Given the description of an element on the screen output the (x, y) to click on. 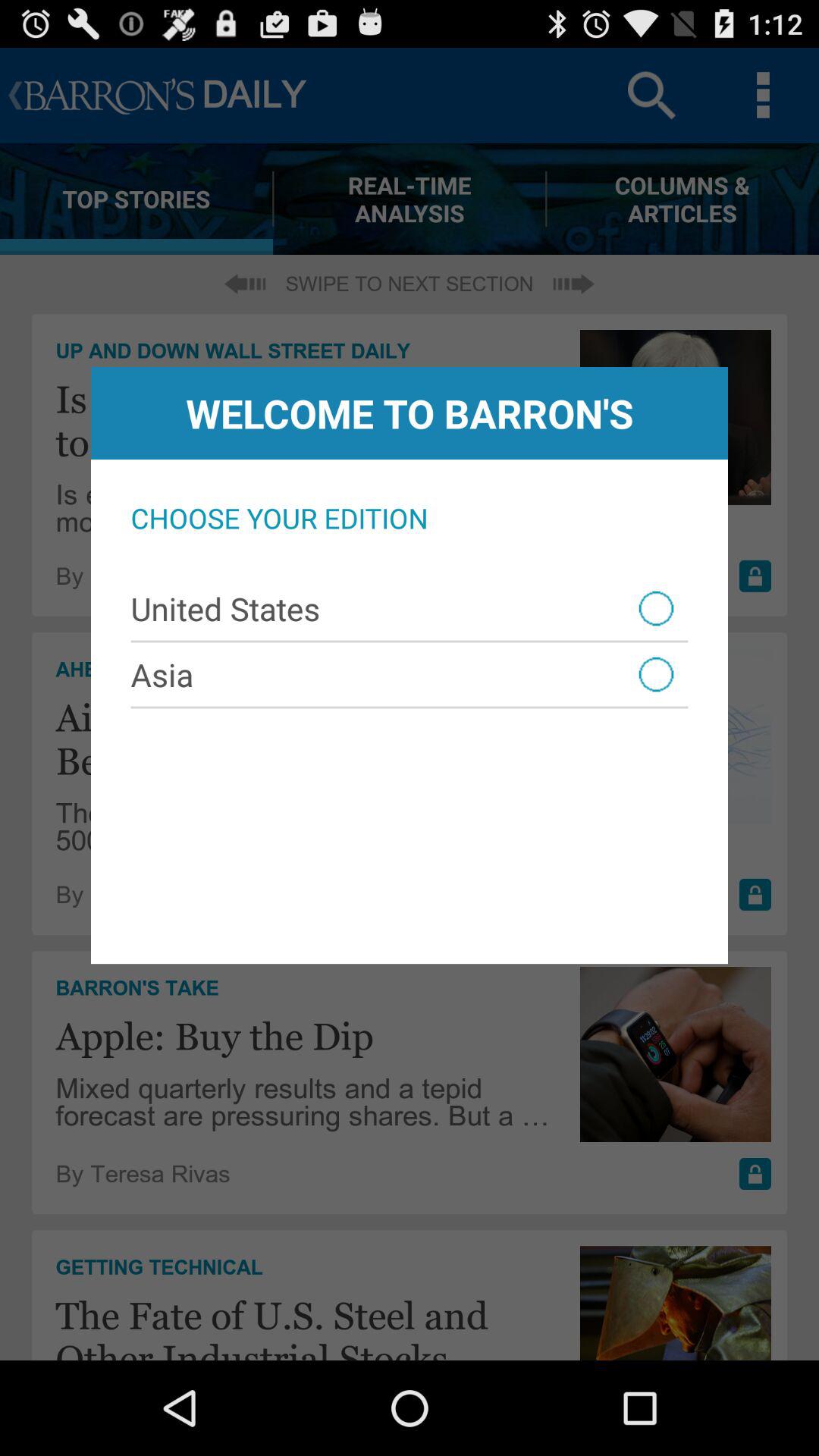
press the asia icon (409, 674)
